Given the description of an element on the screen output the (x, y) to click on. 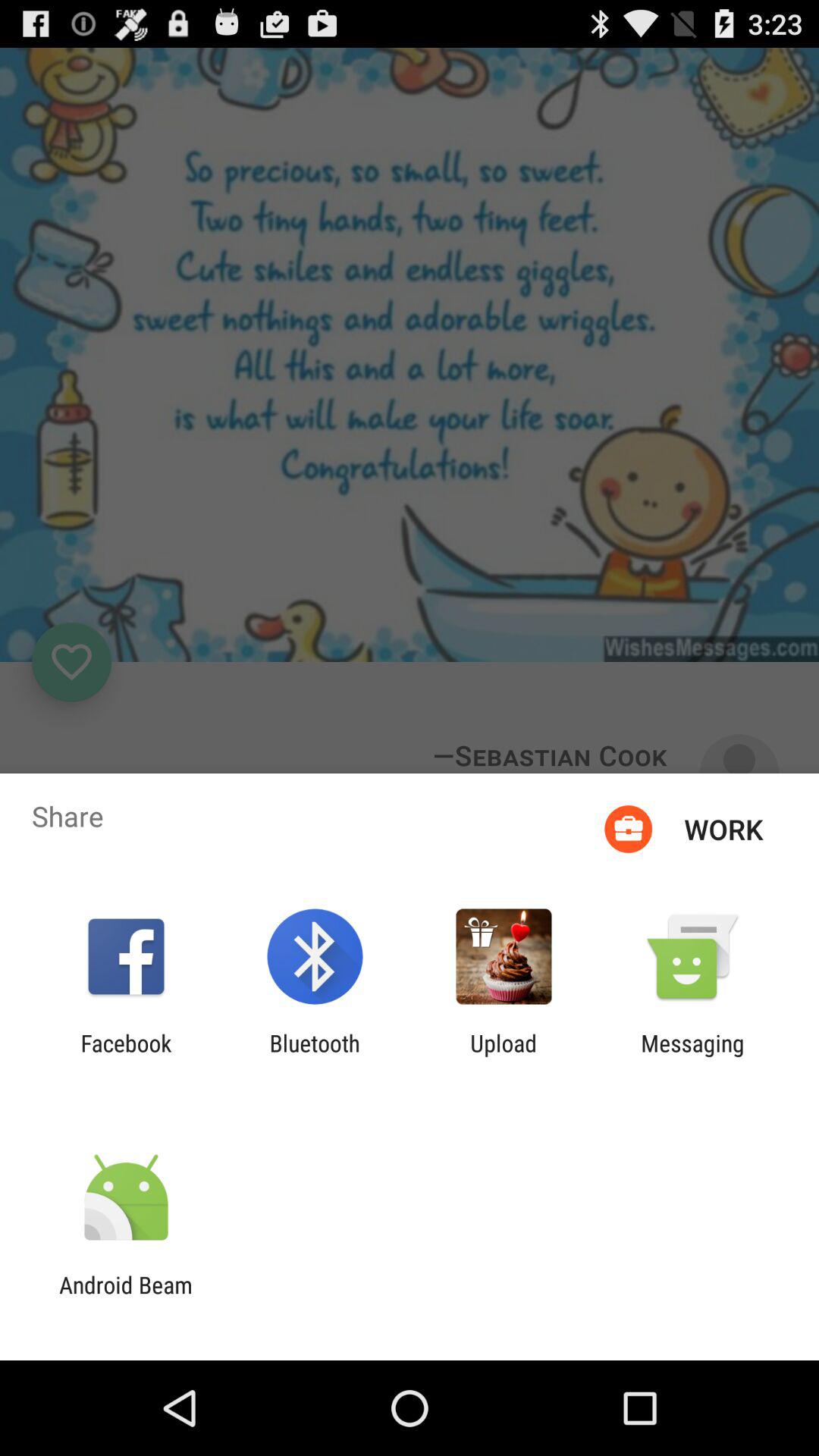
click bluetooth item (314, 1056)
